Given the description of an element on the screen output the (x, y) to click on. 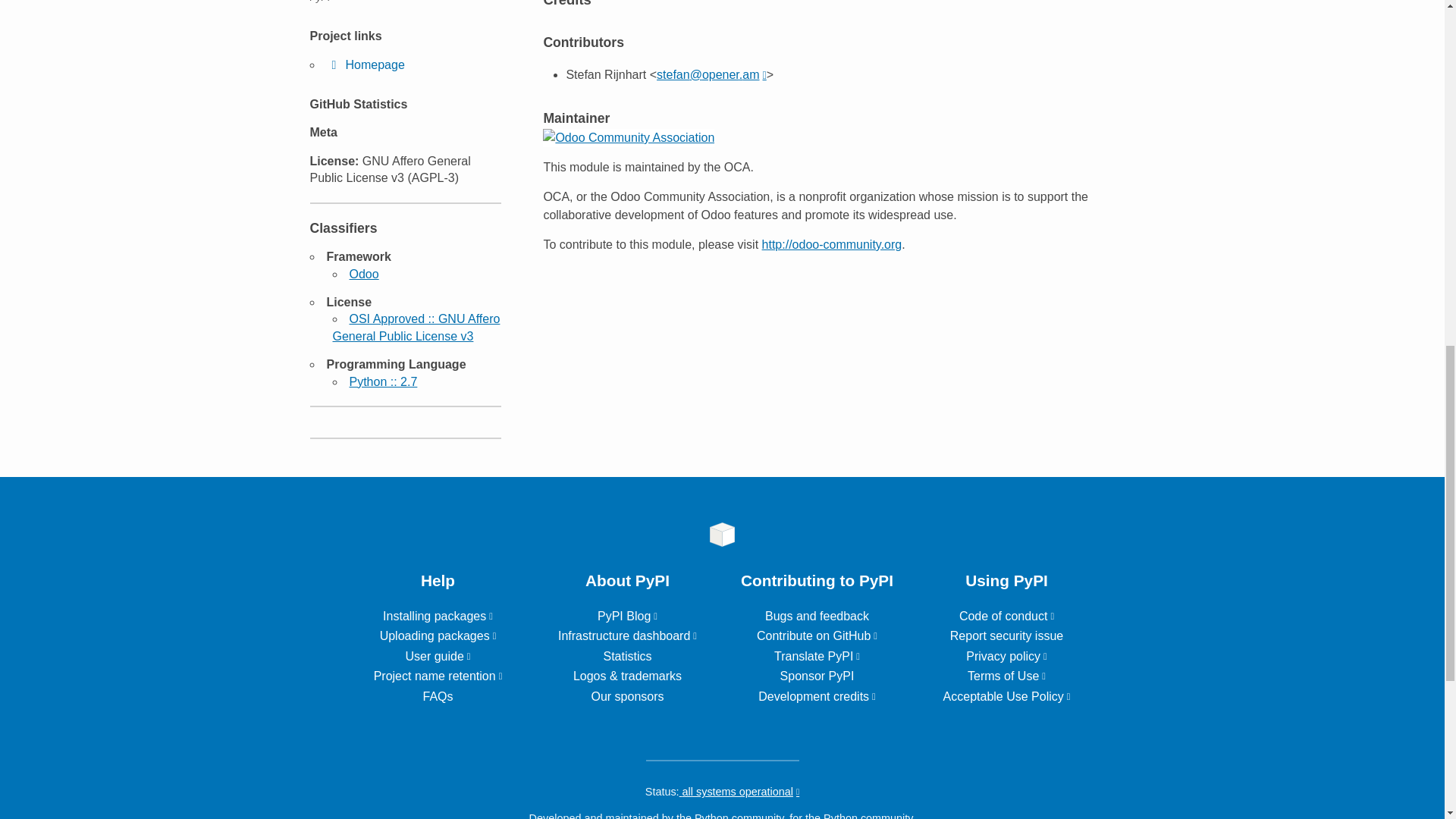
Python :: 2.7 (382, 381)
Odoo (363, 273)
Homepage (365, 64)
OSI Approved :: GNU Affero General Public License v3 (415, 327)
